Given the description of an element on the screen output the (x, y) to click on. 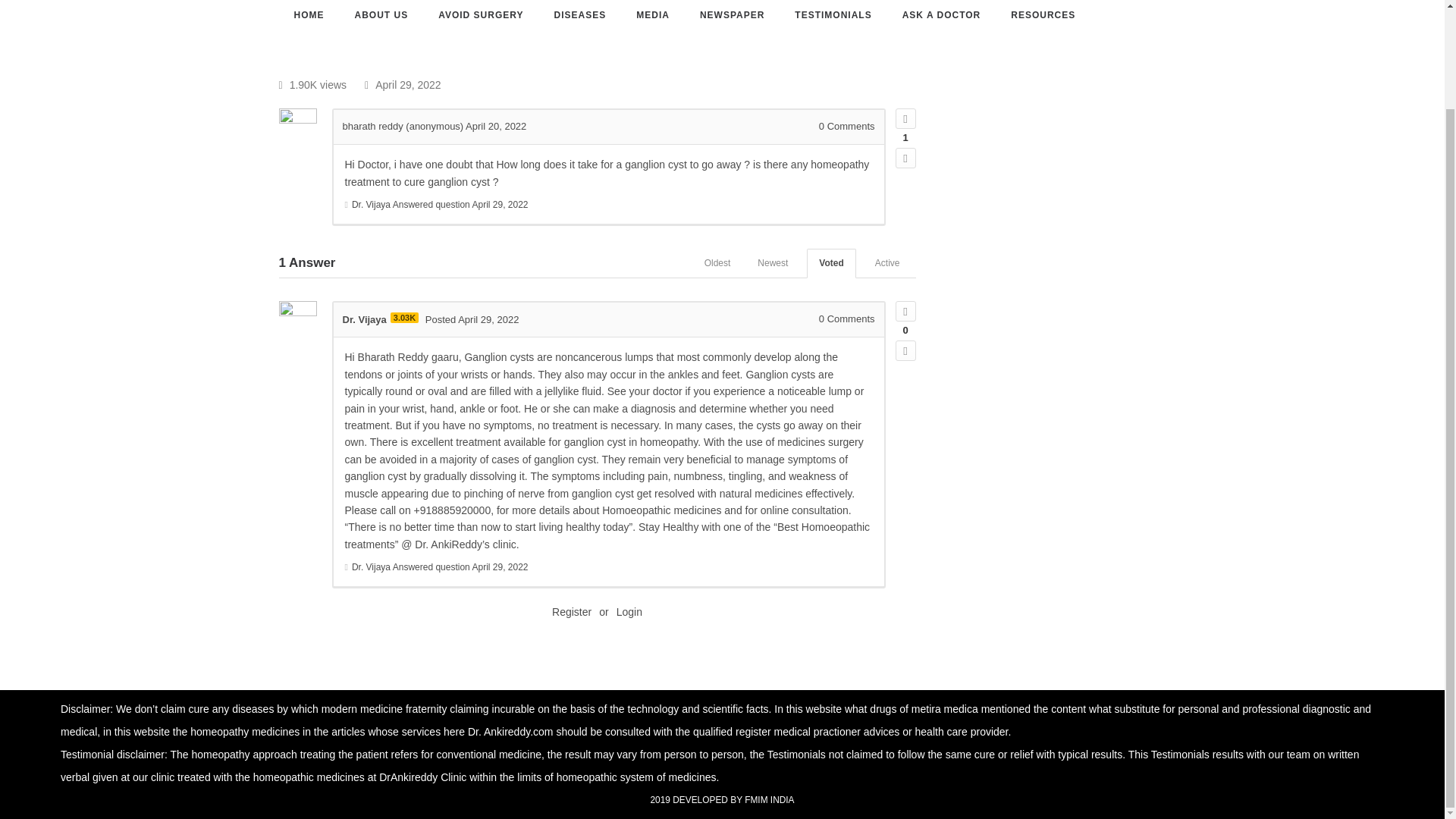
Reputation (404, 317)
DISEASES (580, 15)
Down vote this post (905, 158)
RESOURCES (1042, 15)
Down vote this post (905, 350)
HOME (308, 15)
Up vote this post (905, 118)
Up vote this post (905, 311)
NEWSPAPER (732, 15)
ASK A DOCTOR (941, 15)
